Given the description of an element on the screen output the (x, y) to click on. 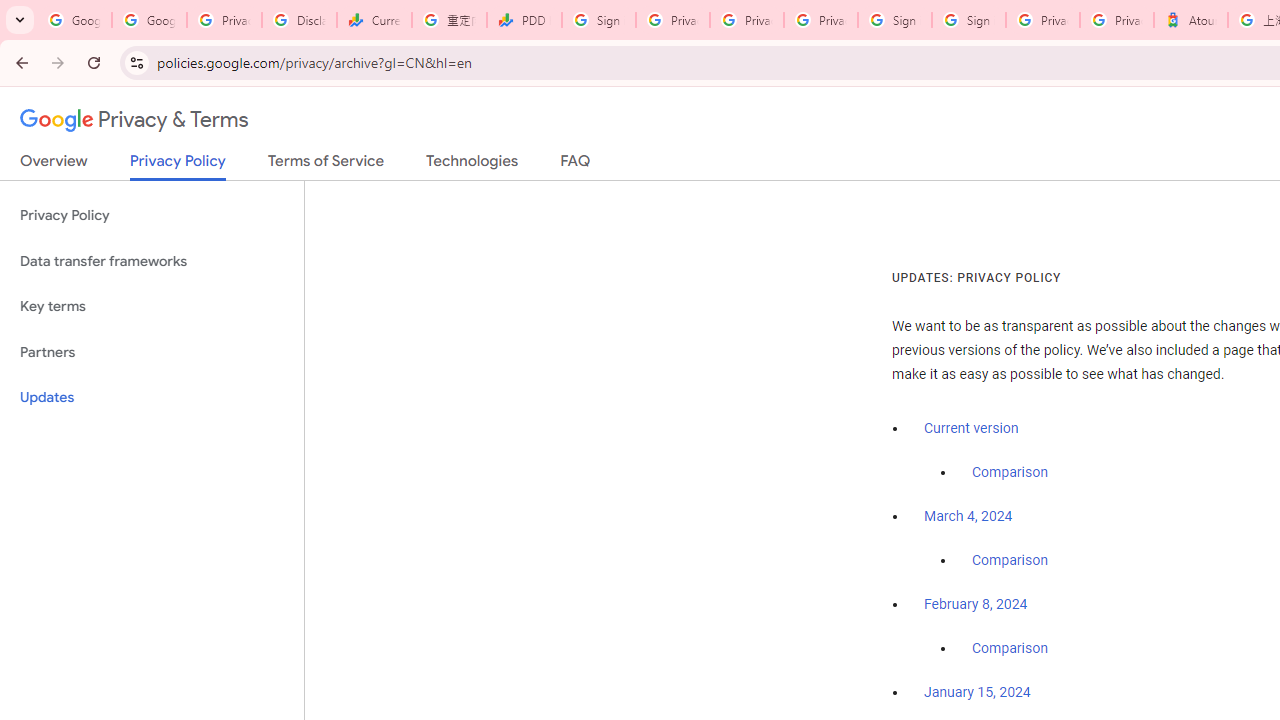
Data transfer frameworks (152, 261)
Technologies (472, 165)
Partners (152, 352)
Google Workspace Admin Community (74, 20)
Sign in - Google Accounts (894, 20)
January 15, 2024 (977, 693)
February 8, 2024 (975, 605)
